Given the description of an element on the screen output the (x, y) to click on. 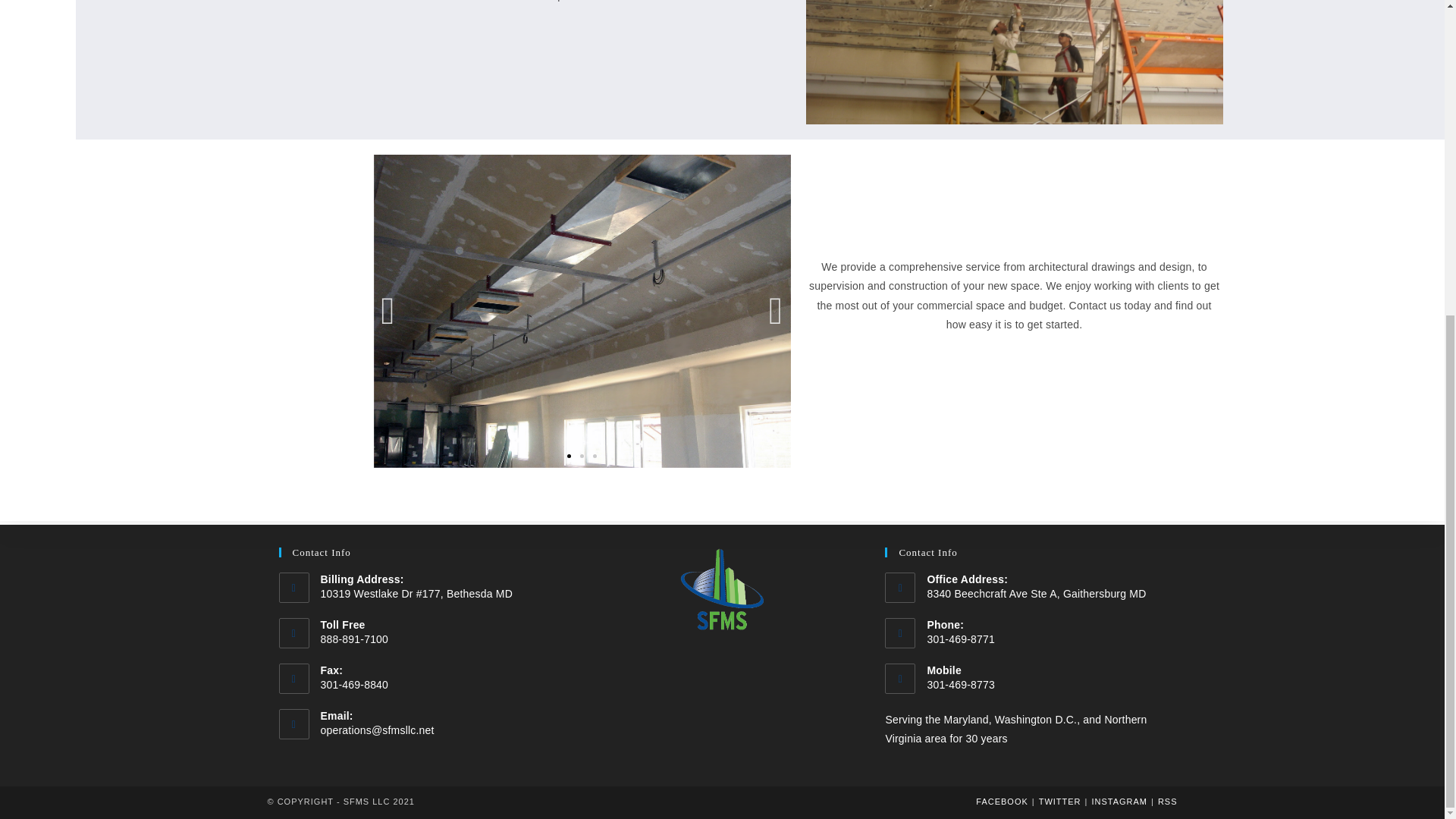
TWITTER (1060, 294)
FACEBOOK (1001, 294)
RSS (1167, 294)
INSTAGRAM (1118, 294)
